Given the description of an element on the screen output the (x, y) to click on. 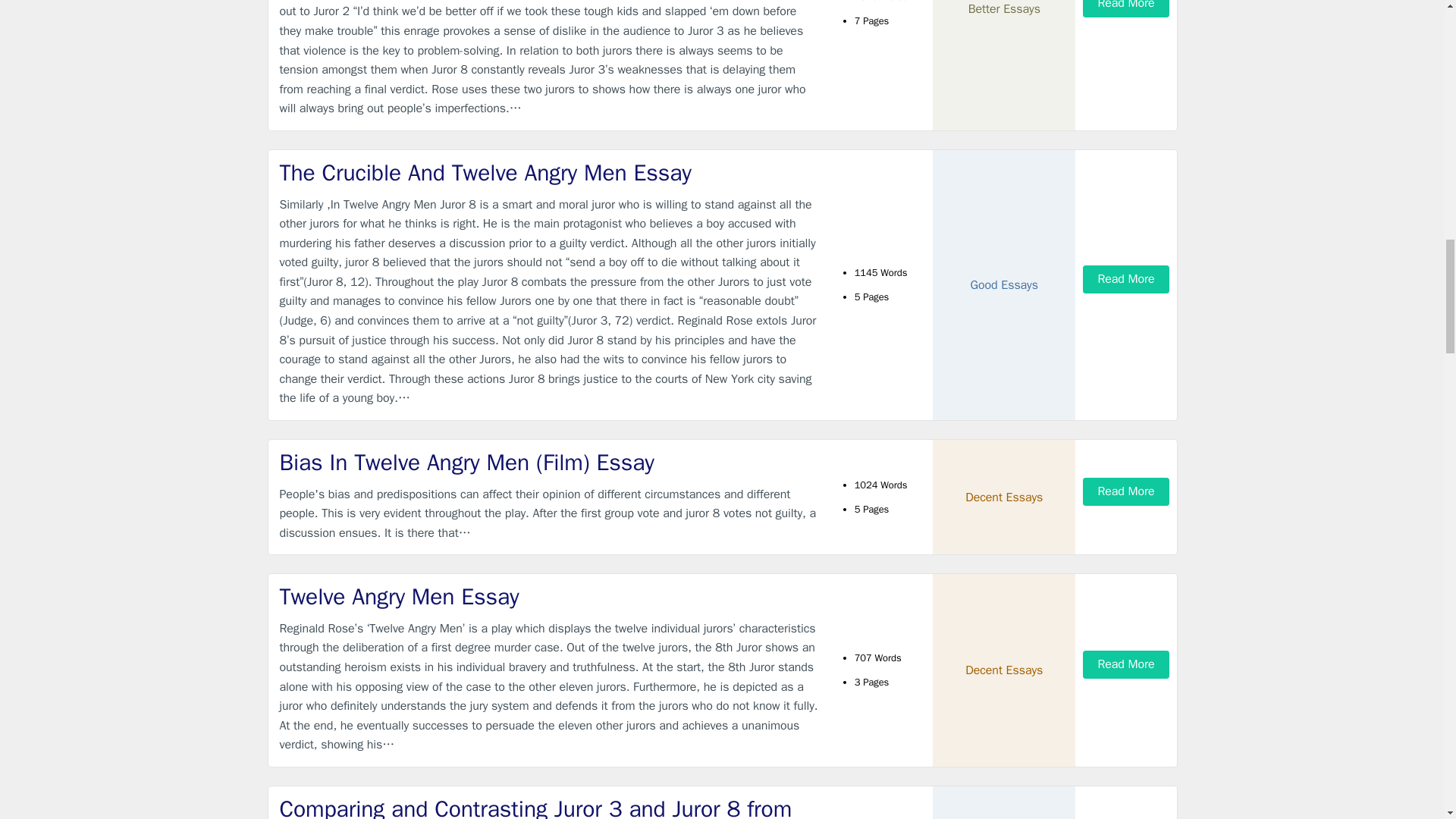
Read More (1126, 491)
Twelve Angry Men Essay (548, 596)
Read More (1126, 664)
Read More (1126, 279)
Read More (1126, 8)
The Crucible And Twelve Angry Men Essay (548, 173)
